Given the description of an element on the screen output the (x, y) to click on. 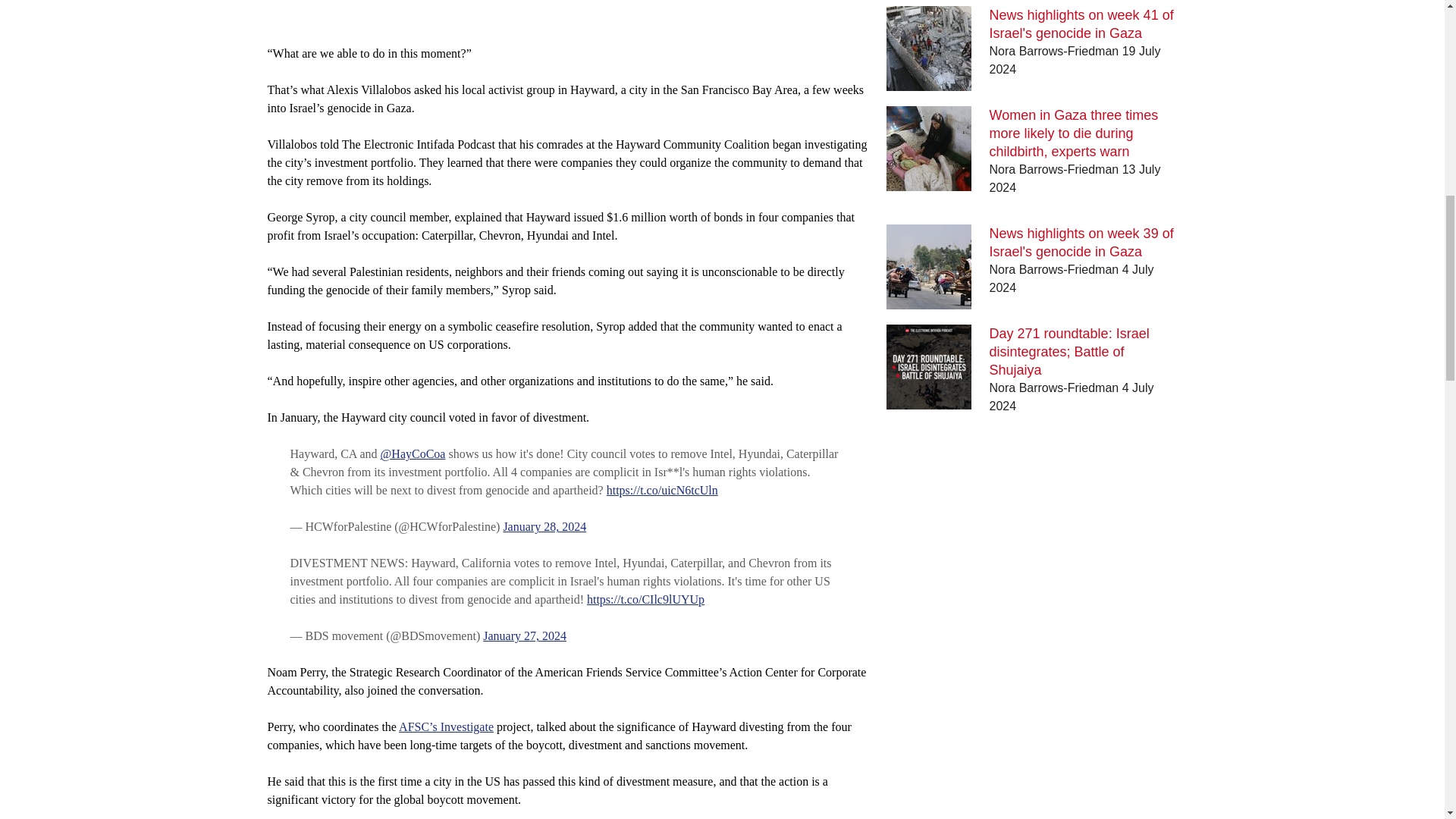
January 28, 2024 (544, 526)
January 27, 2024 (524, 635)
EPISODE 91    CUT 1 (566, 13)
